Given the description of an element on the screen output the (x, y) to click on. 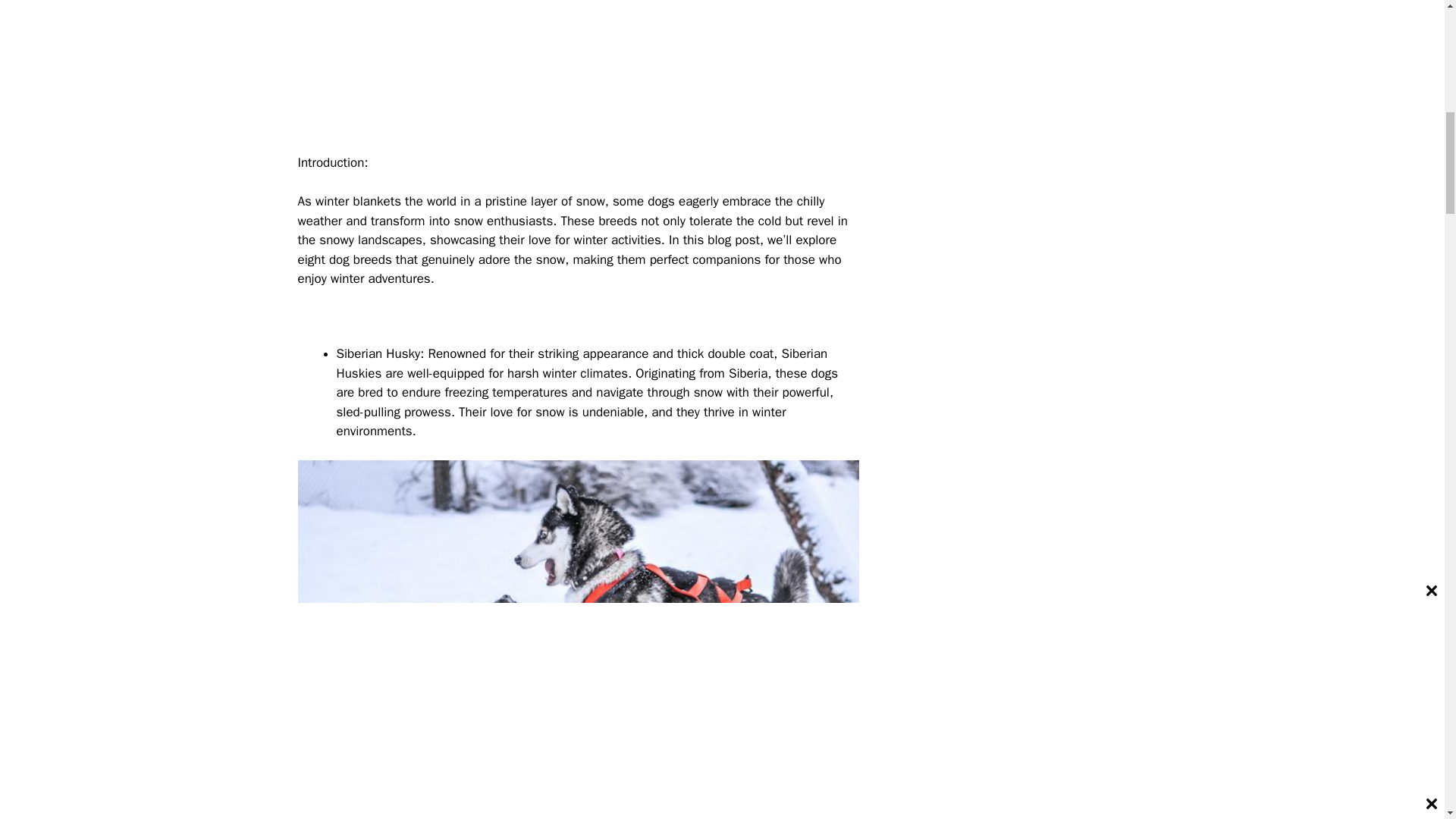
Advertisement (585, 73)
